Given the description of an element on the screen output the (x, y) to click on. 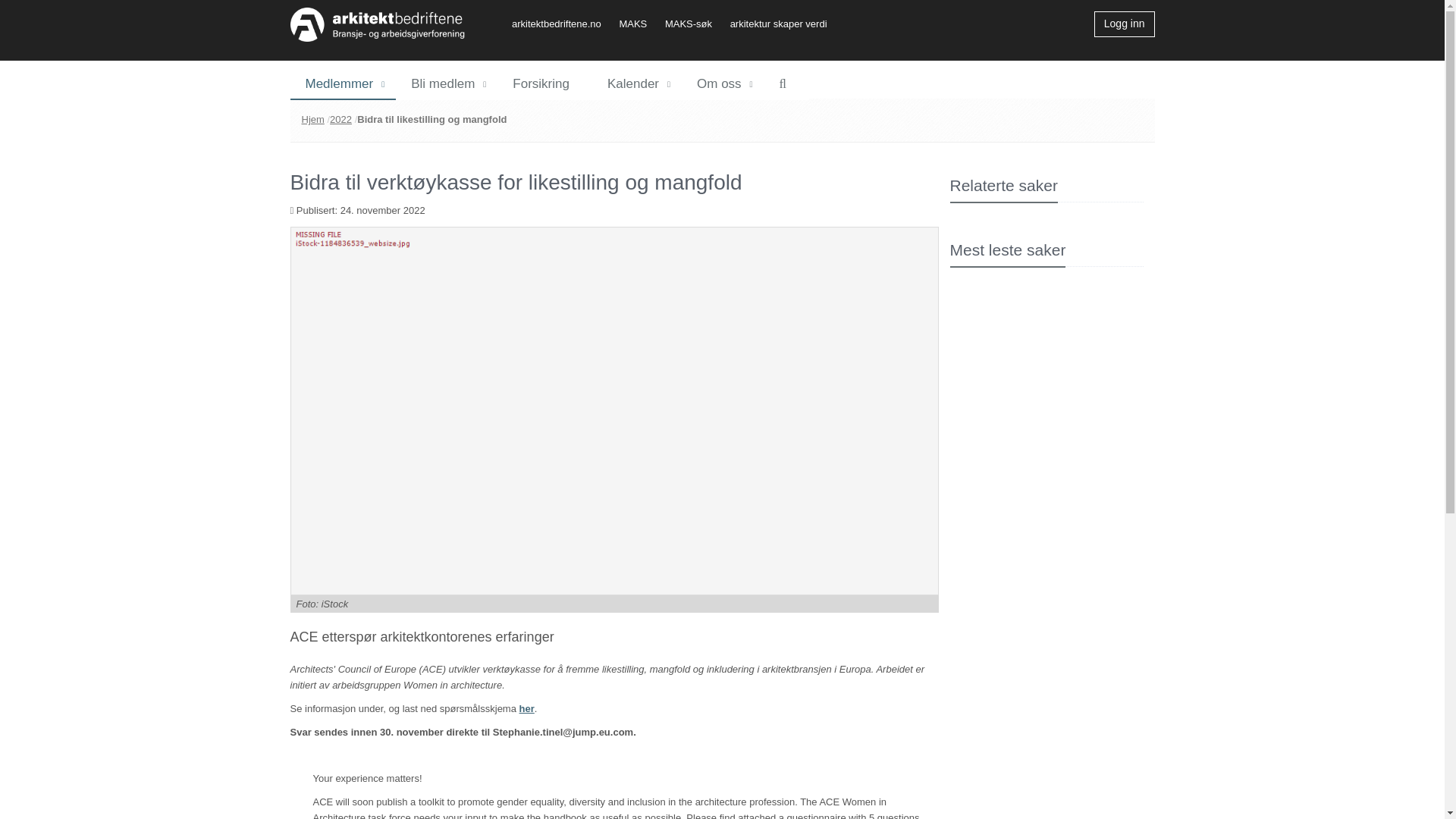
arkitektbedriftene.no (563, 23)
Logg inn (1124, 23)
arkitektur skaper verdi (786, 23)
Om oss (722, 84)
MAKS (640, 23)
Medlemmer (342, 84)
Forsikring (544, 84)
Til startsiden arkitektbedriftene.no (376, 24)
Kalender (636, 84)
Bli medlem (446, 84)
